Given the description of an element on the screen output the (x, y) to click on. 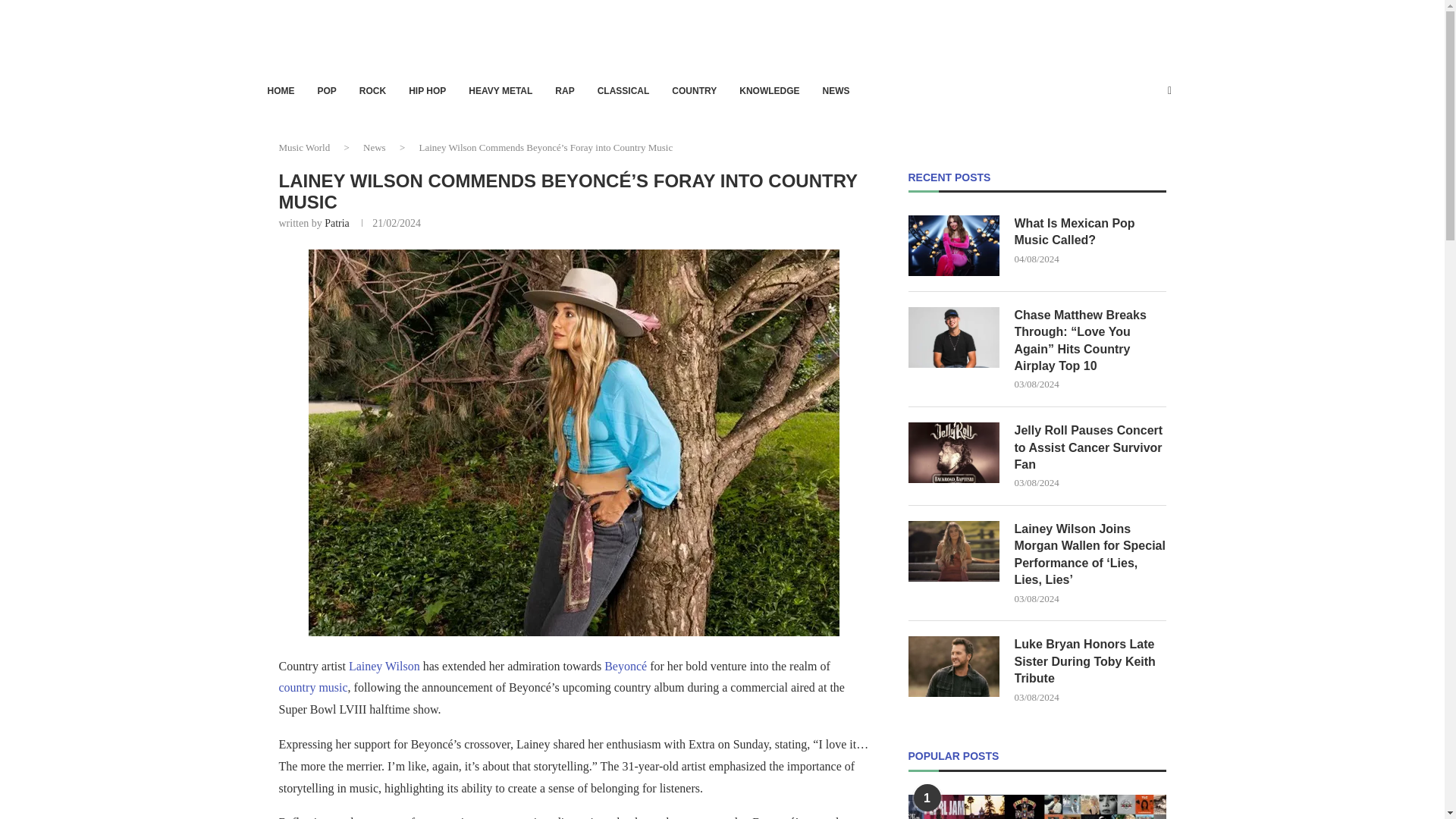
CLASSICAL (622, 90)
KNOWLEDGE (769, 90)
COUNTRY (693, 90)
HEAVY METAL (500, 90)
